Given the description of an element on the screen output the (x, y) to click on. 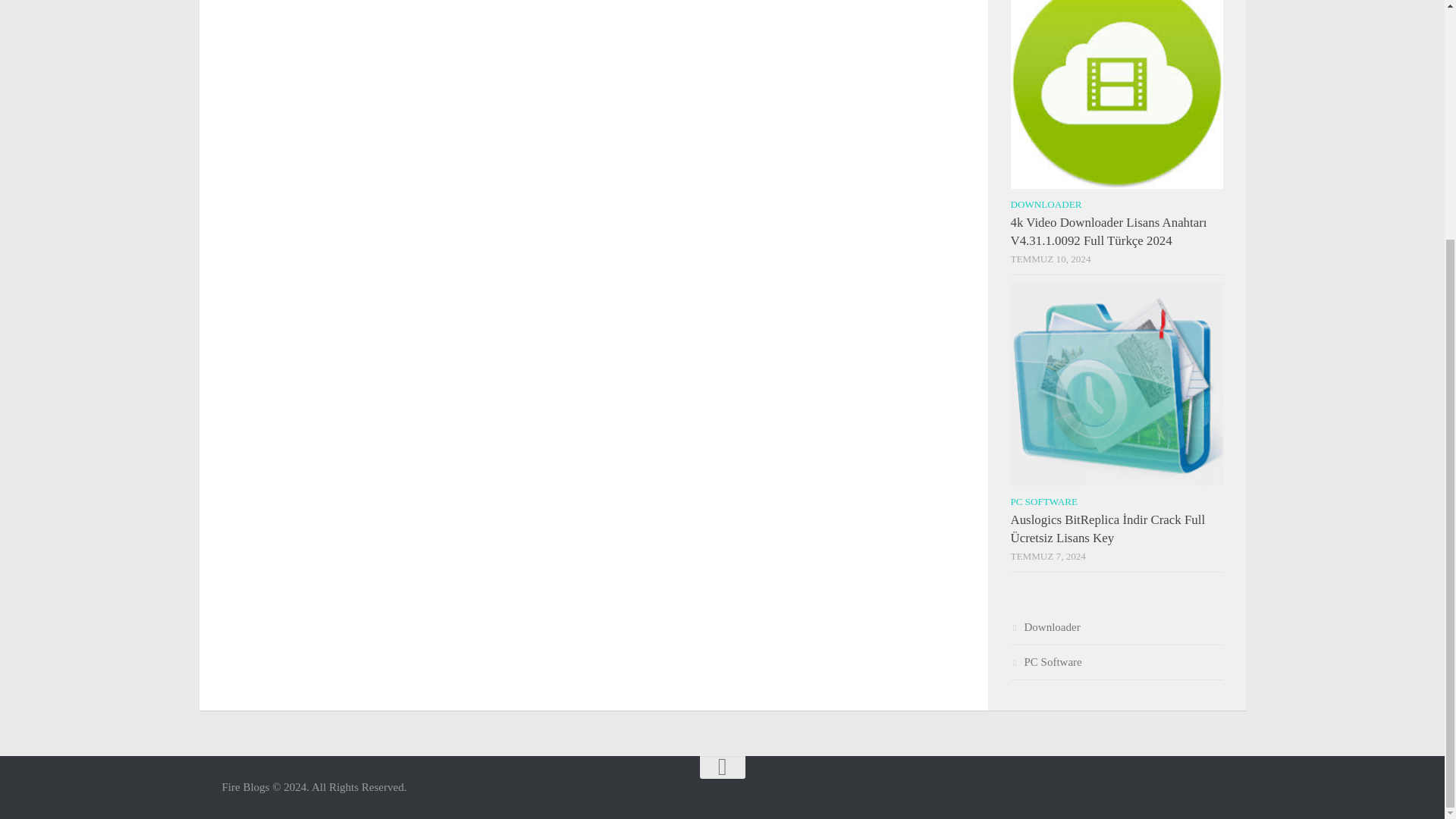
PC SOFTWARE (1043, 501)
Downloader (1045, 626)
DOWNLOADER (1045, 204)
PC Software (1045, 662)
